Given the description of an element on the screen output the (x, y) to click on. 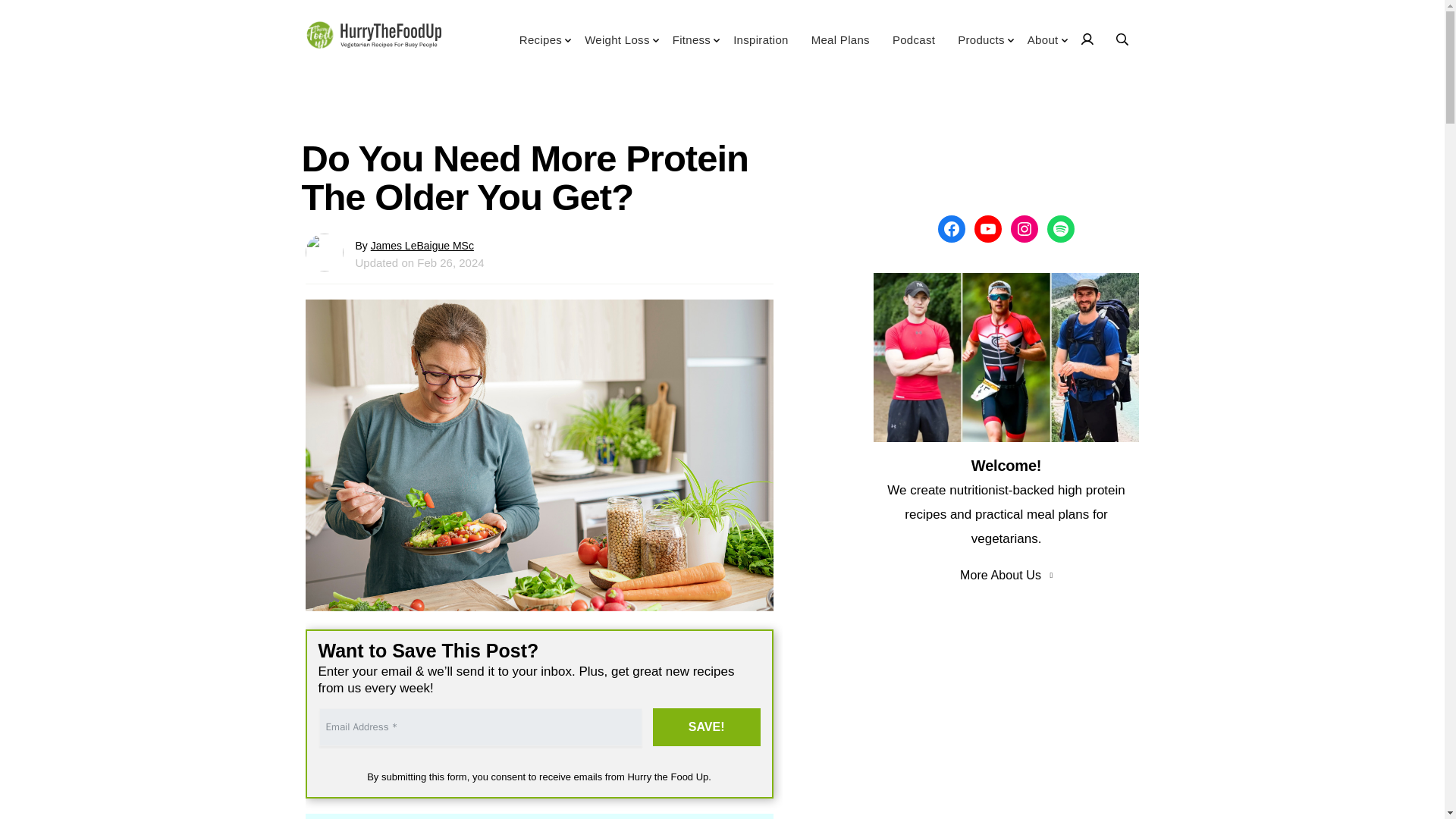
Inspiration (760, 46)
Go to homepage (372, 37)
Weight Loss (617, 46)
Hurry The Food Up (372, 37)
Fitness (691, 46)
Recipes (540, 46)
Meal Plans (840, 46)
